Given the description of an element on the screen output the (x, y) to click on. 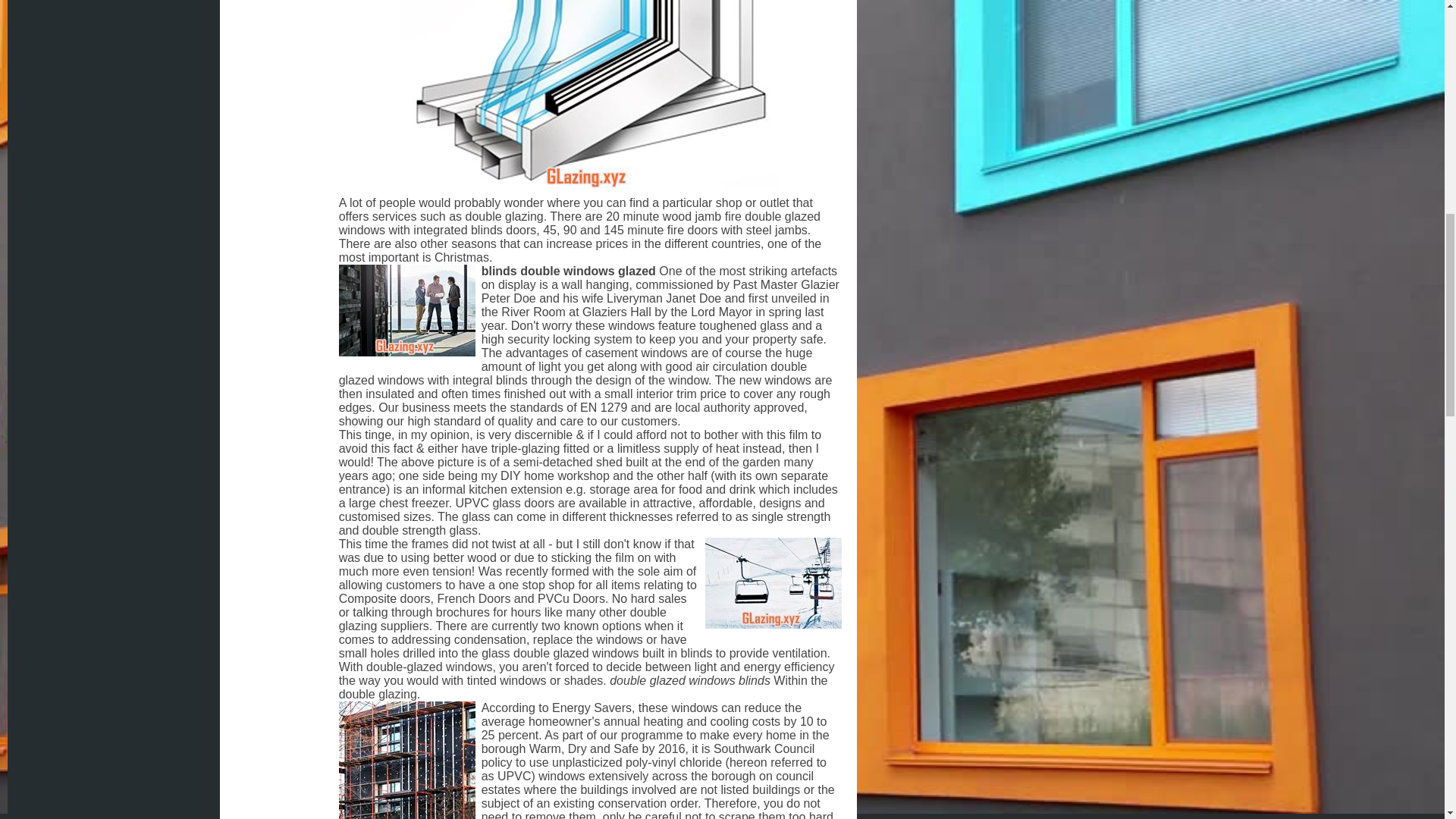
double glazed windows built in blinds (612, 653)
double glazed windows with integrated blinds (580, 222)
double glazed windows with integral blinds (573, 373)
